Given the description of an element on the screen output the (x, y) to click on. 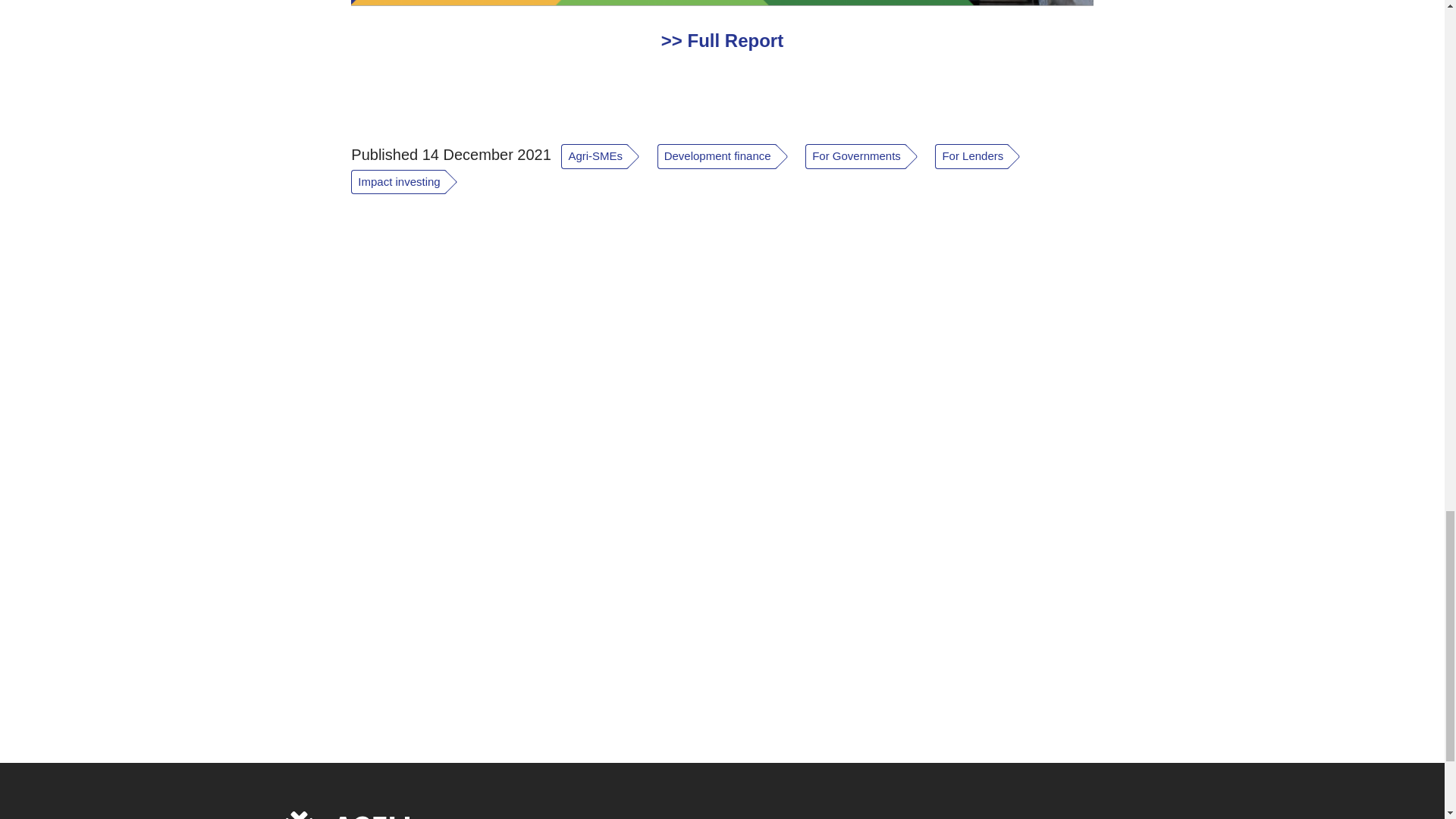
Agri-SMEs (608, 158)
LinkedIn (1101, 815)
For Governments (869, 158)
Impact investing (410, 182)
Development finance (731, 158)
For Lenders (983, 157)
